Given the description of an element on the screen output the (x, y) to click on. 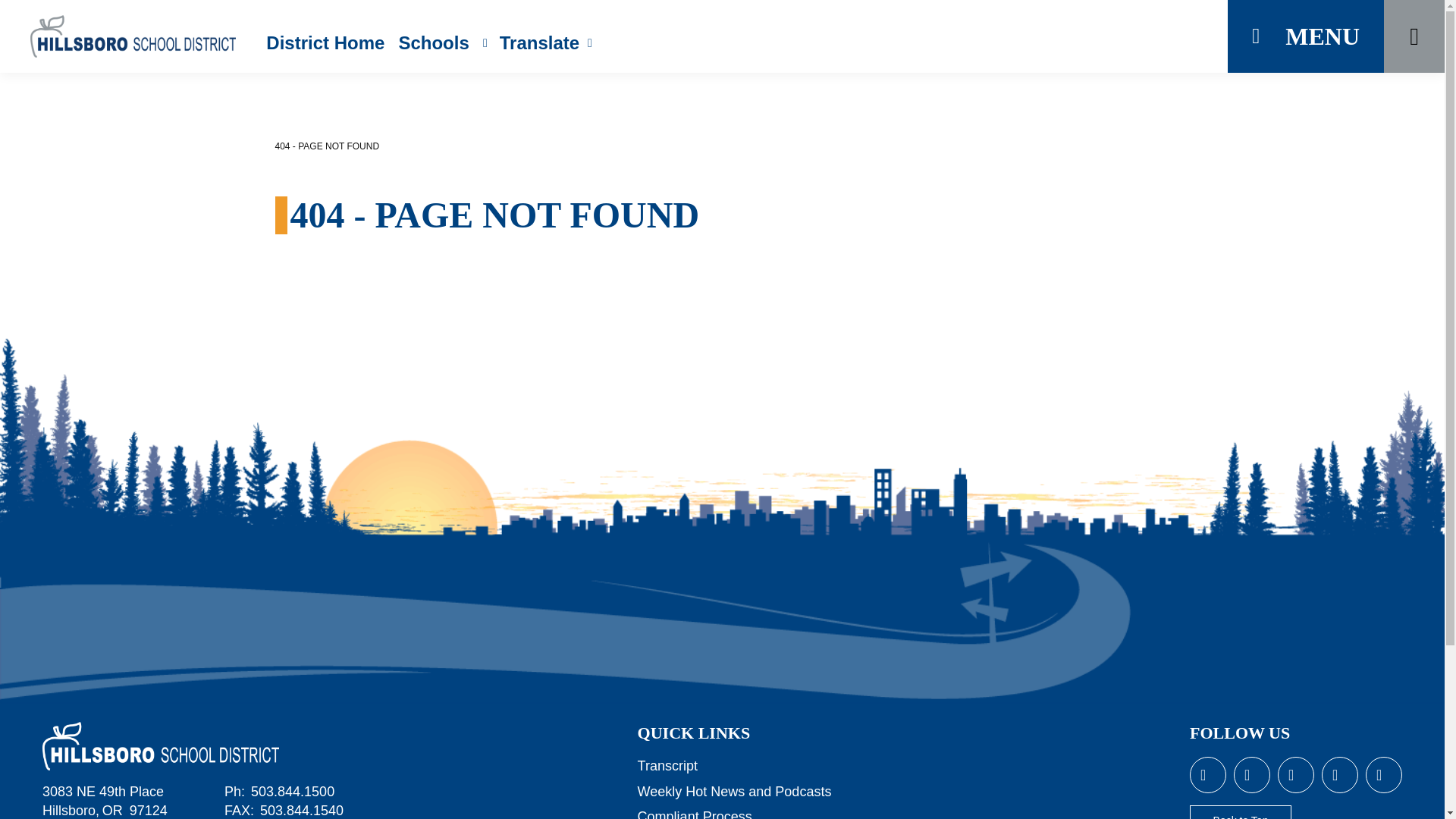
District Home (325, 43)
Schools (441, 43)
